Given the description of an element on the screen output the (x, y) to click on. 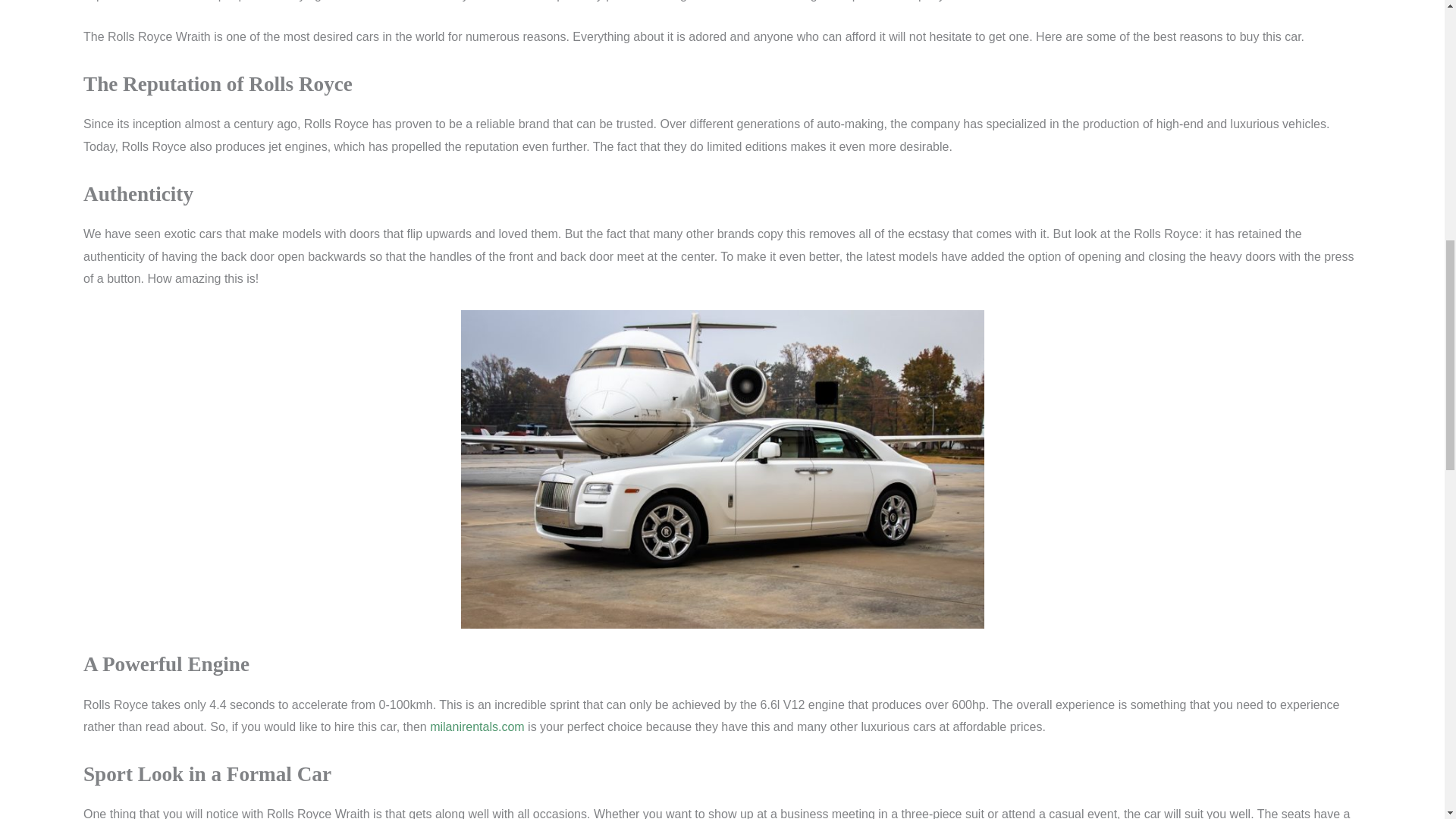
milanirentals.com (476, 726)
